Given the description of an element on the screen output the (x, y) to click on. 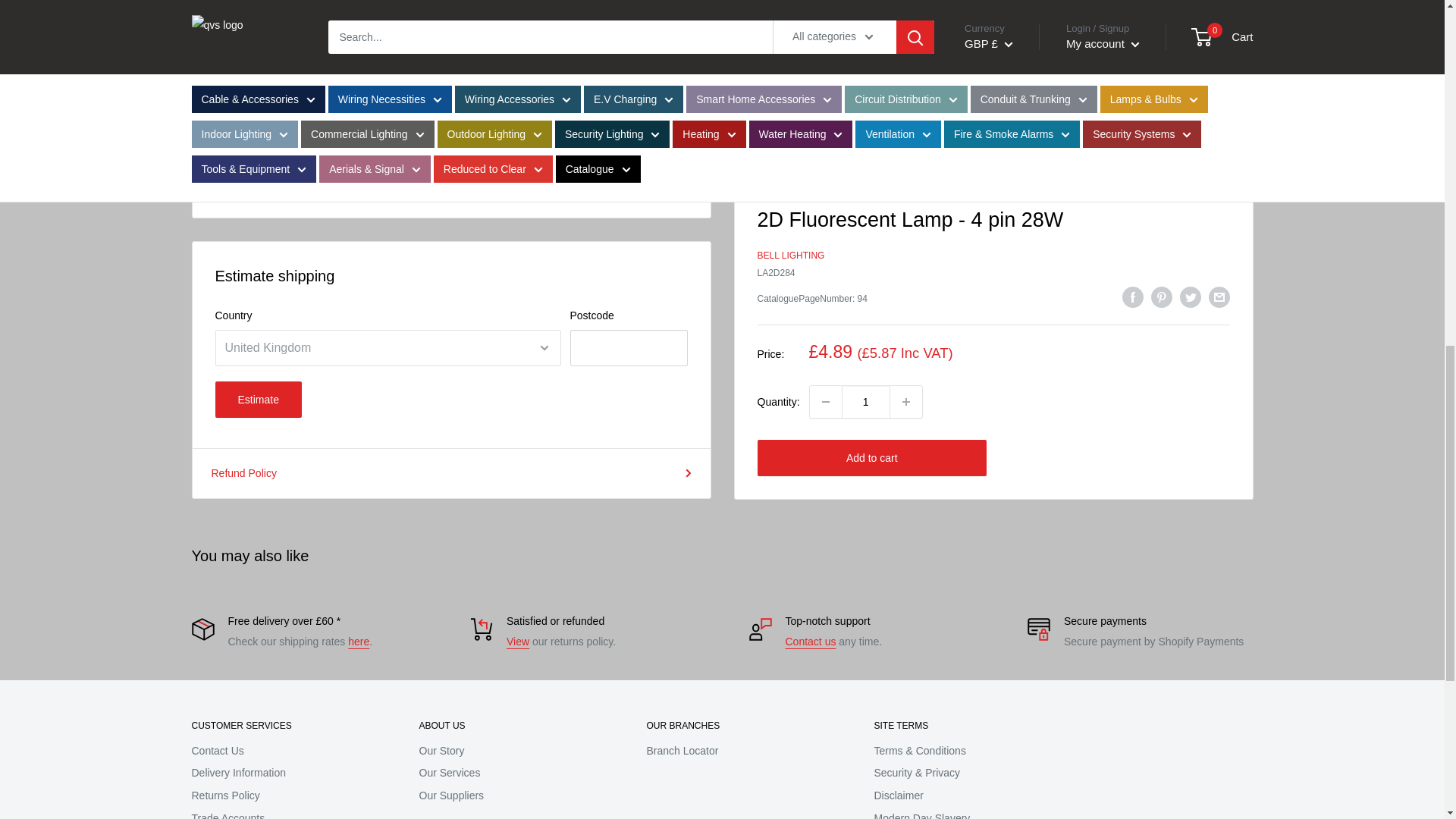
Delivery Information (358, 641)
Contact Us (810, 641)
Returns Policy (517, 641)
